Given the description of an element on the screen output the (x, y) to click on. 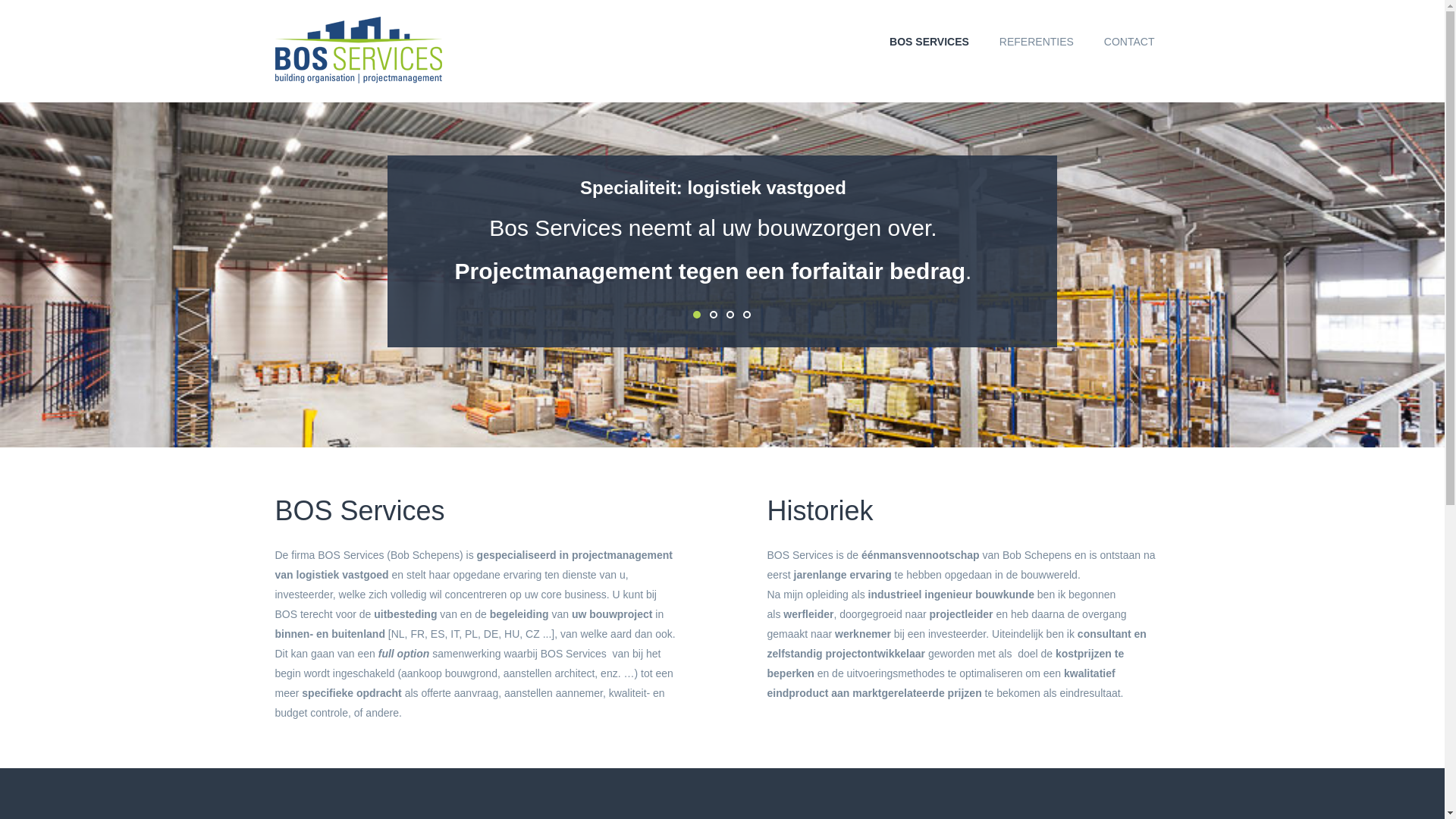
BOS Services, Building Organisation and Project Management. Element type: hover (357, 49)
REFERENTIES Element type: text (1036, 40)
BOS SERVICES Element type: text (928, 40)
CONTACT Element type: text (1129, 40)
